Given the description of an element on the screen output the (x, y) to click on. 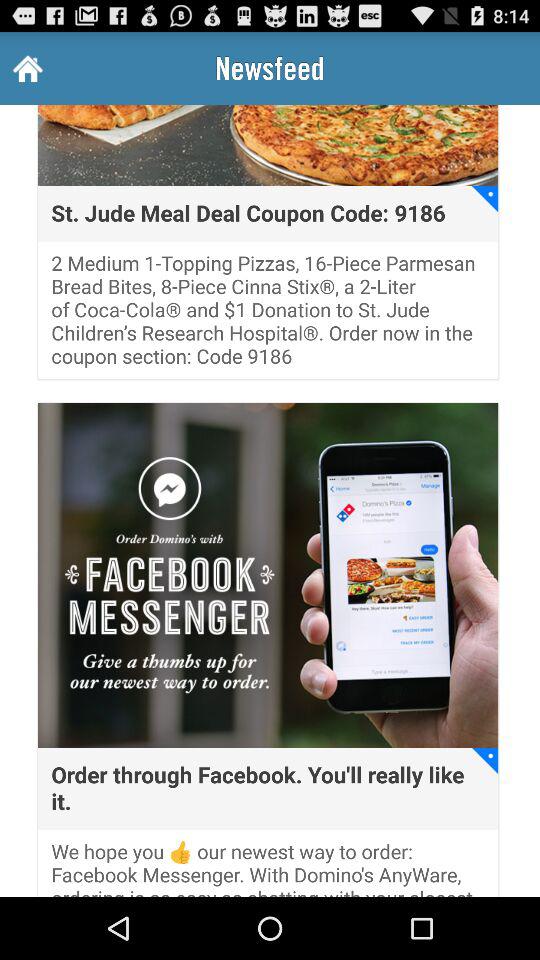
swipe to the st jude meal icon (248, 213)
